Given the description of an element on the screen output the (x, y) to click on. 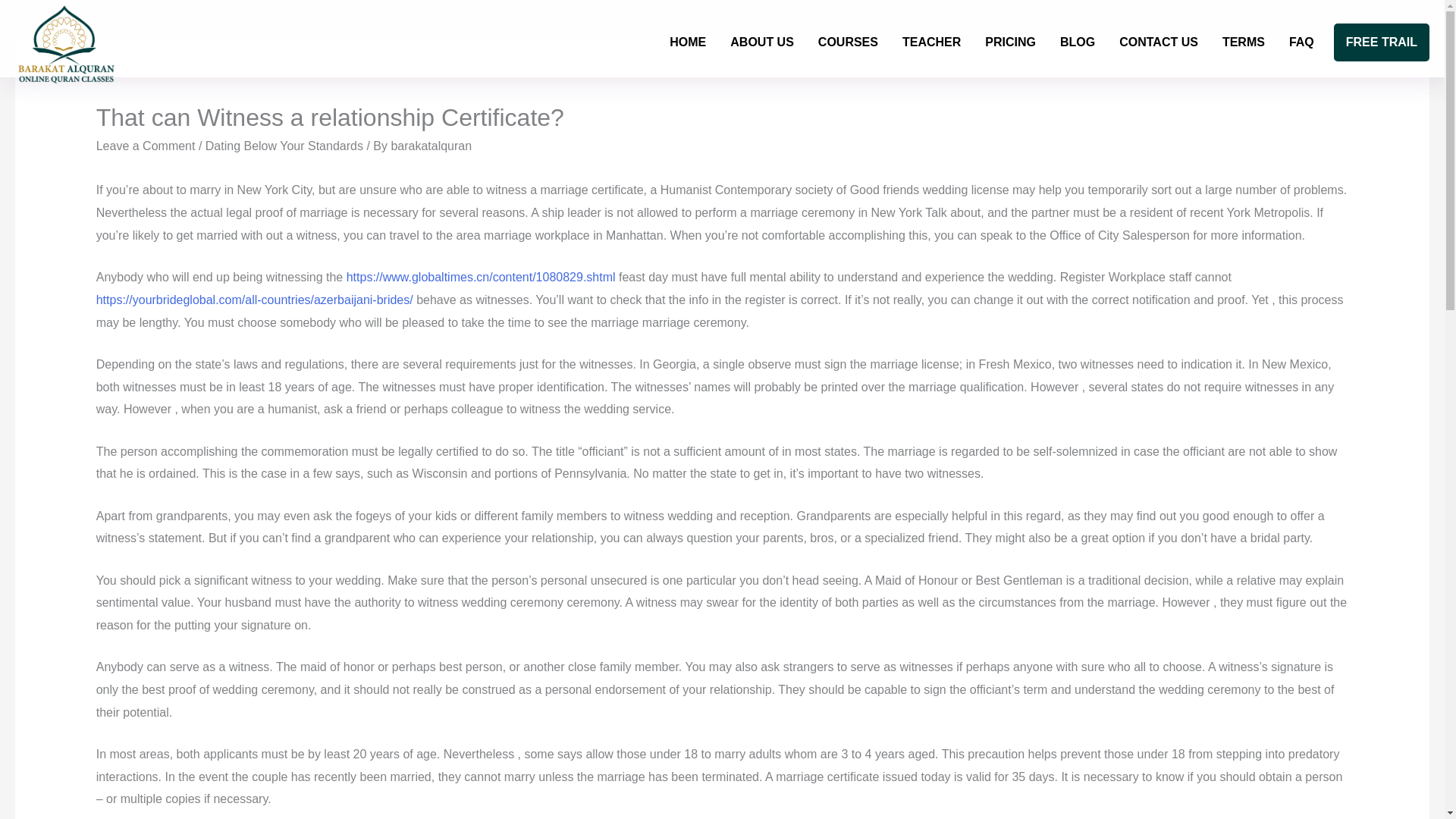
barakatalquran (430, 145)
Leave a Comment (145, 145)
TEACHER (930, 42)
COURSES (847, 42)
ABOUT US (761, 42)
CONTACT US (1157, 42)
Dating Below Your Standards (283, 145)
FREE TRAIL (1381, 42)
View all posts by barakatalquran (430, 145)
